Given the description of an element on the screen output the (x, y) to click on. 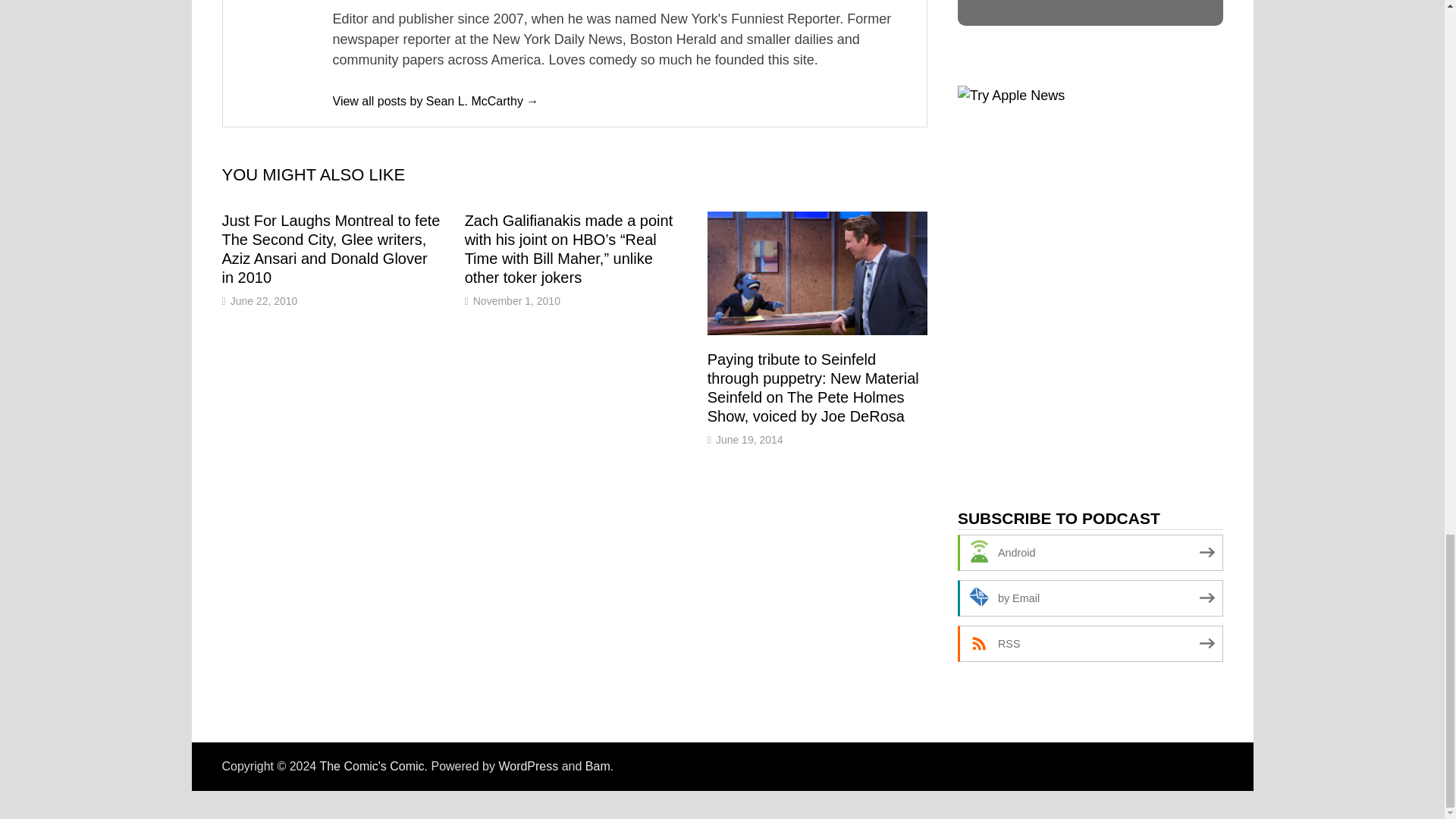
Subscribe via RSS (1090, 643)
Subscribe on Android (1090, 552)
Sean L. McCarthy (434, 101)
The Comic's Comic (370, 766)
Subscribe by Email (1090, 597)
